Given the description of an element on the screen output the (x, y) to click on. 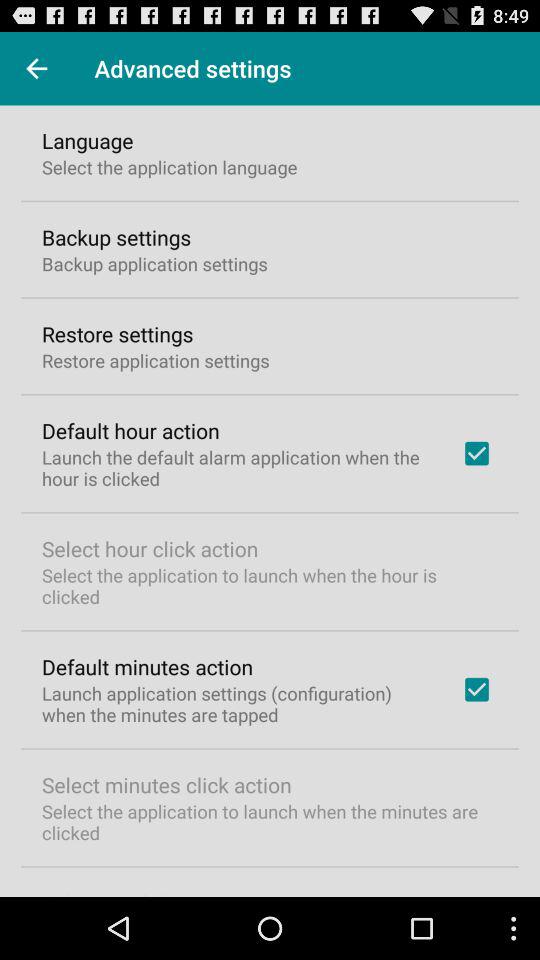
click item next to advanced settings icon (36, 68)
